Given the description of an element on the screen output the (x, y) to click on. 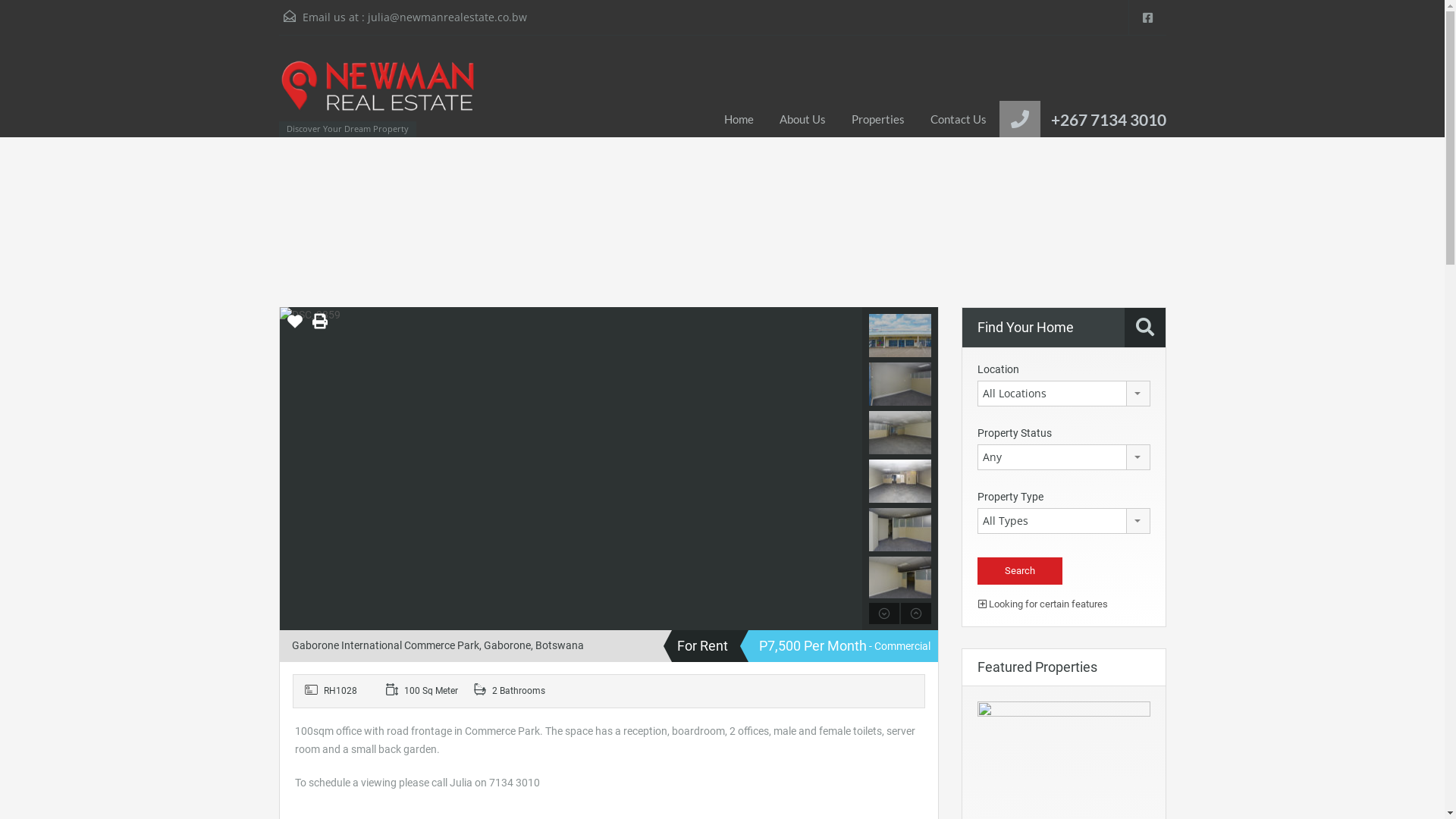
Looking for certain features Element type: text (1042, 603)
Add to favorite Element type: hover (293, 326)
Home Element type: text (738, 118)
All Locations Element type: text (1062, 393)
All Types Element type: text (1062, 520)
+267 7134 3010 Element type: text (1108, 119)
Properties Element type: text (877, 118)
Newman Real Estate Element type: hover (377, 93)
Any Element type: text (1062, 457)
Search Element type: text (1018, 570)
About Us Element type: text (801, 118)
julia@newmanrealestate.co.bw Element type: text (446, 16)
Contact Us Element type: text (958, 118)
